Given the description of an element on the screen output the (x, y) to click on. 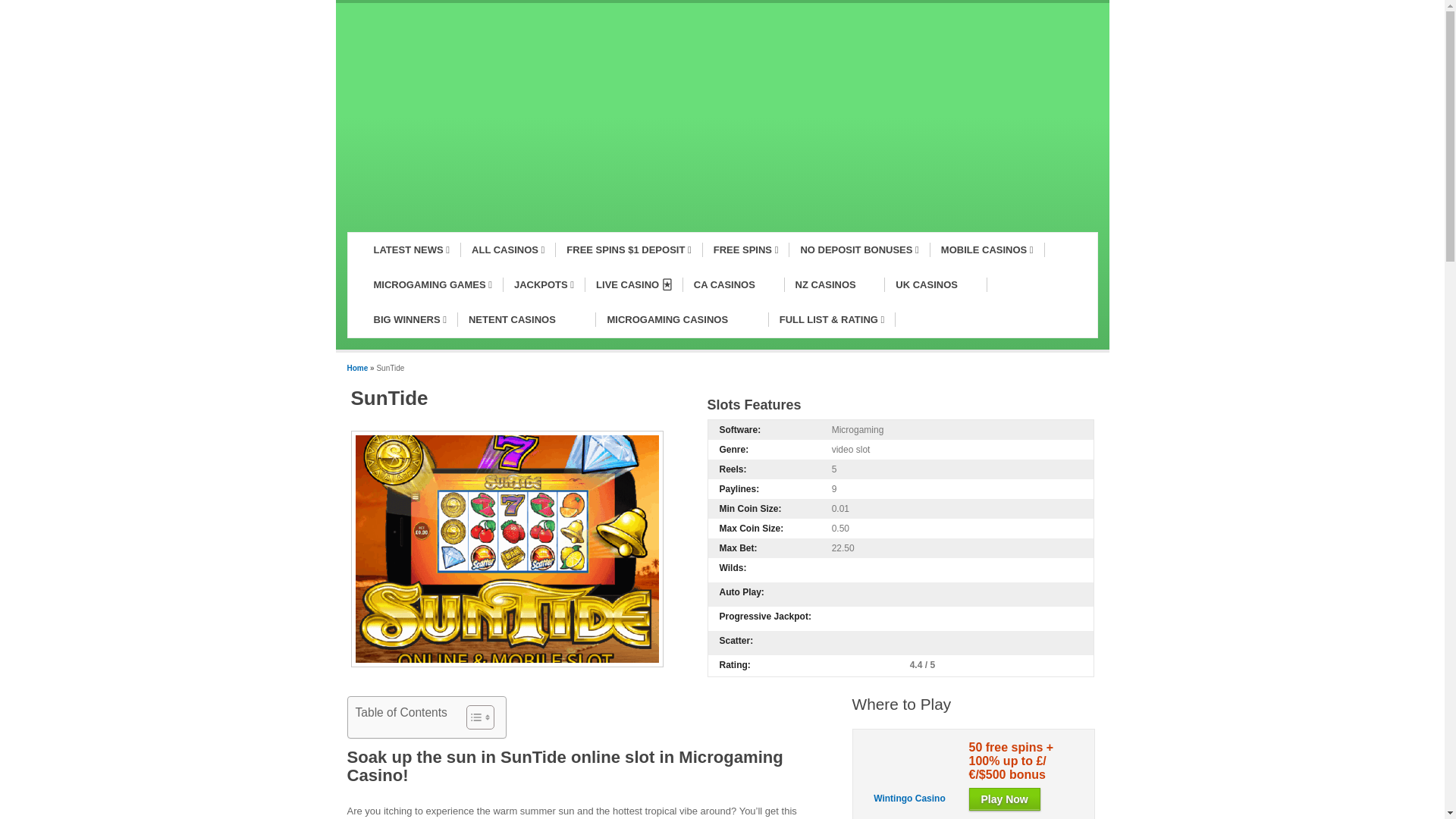
UK CASINOS (936, 284)
NETENT CASINOS (526, 319)
CA CASINOS (733, 284)
Home (357, 367)
Wintingo Casino (909, 782)
Wintingo Casino (908, 798)
MICROGAMING CASINOS (681, 319)
Play Now (1005, 798)
NZ CASINOS (834, 284)
